Given the description of an element on the screen output the (x, y) to click on. 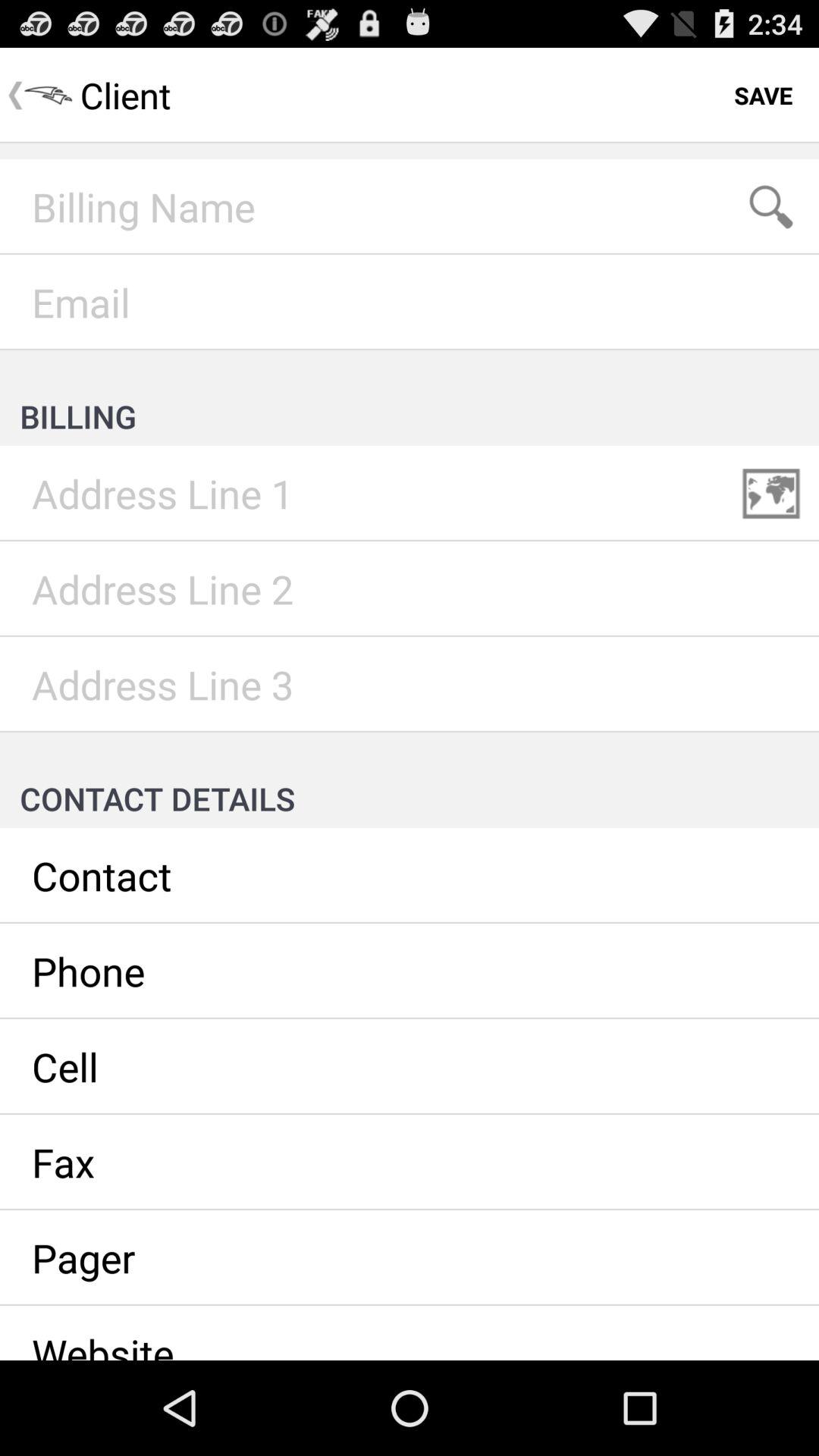
contact details fax (409, 1162)
